Given the description of an element on the screen output the (x, y) to click on. 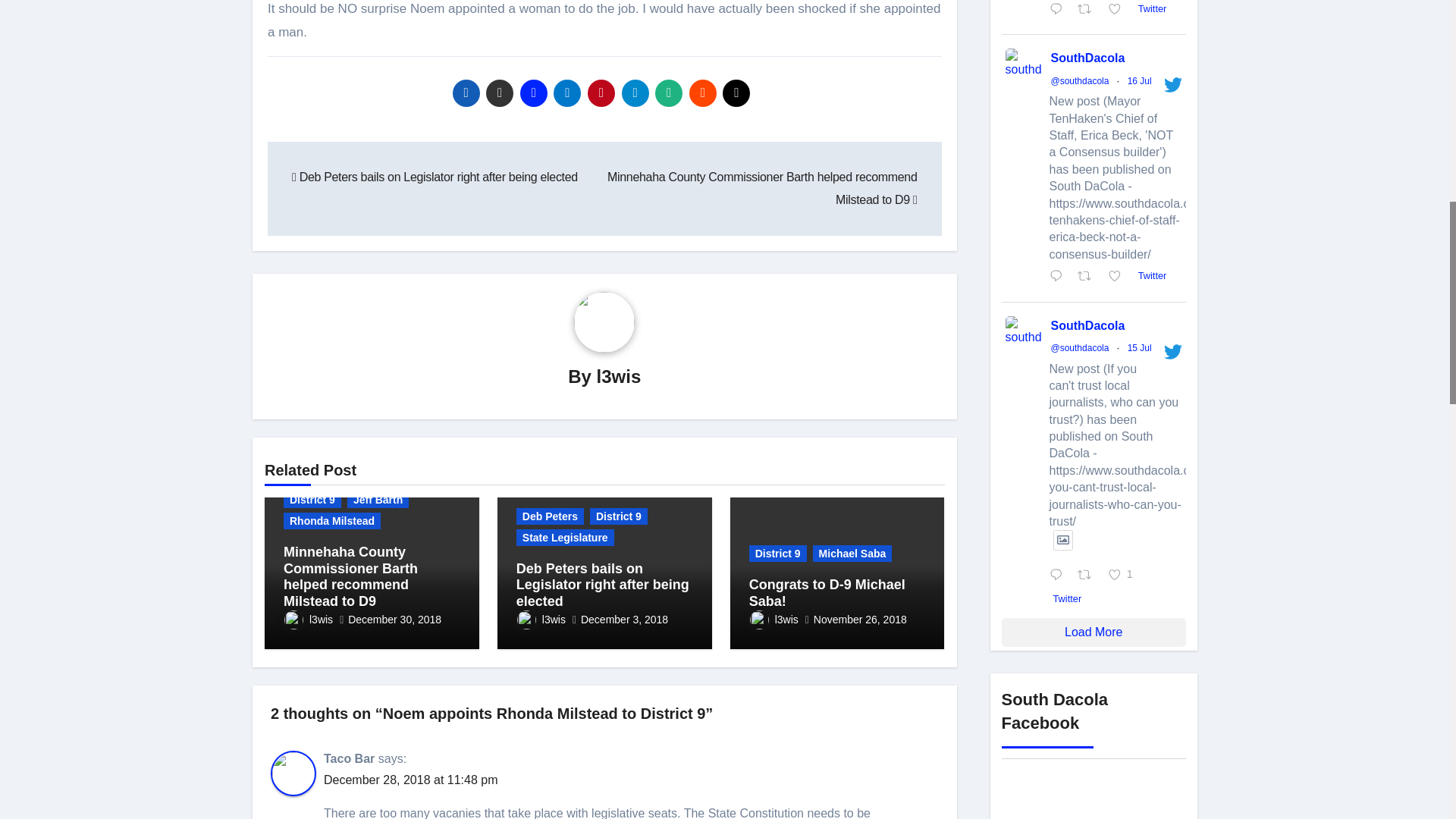
Jeff Barth (378, 499)
Permalink to: Congrats to D-9 Michael Saba! (827, 593)
l3wis (619, 376)
Rhonda Milstead (331, 520)
Deb Peters bails on Legislator right after being elected (435, 176)
District 9 (311, 499)
